Given the description of an element on the screen output the (x, y) to click on. 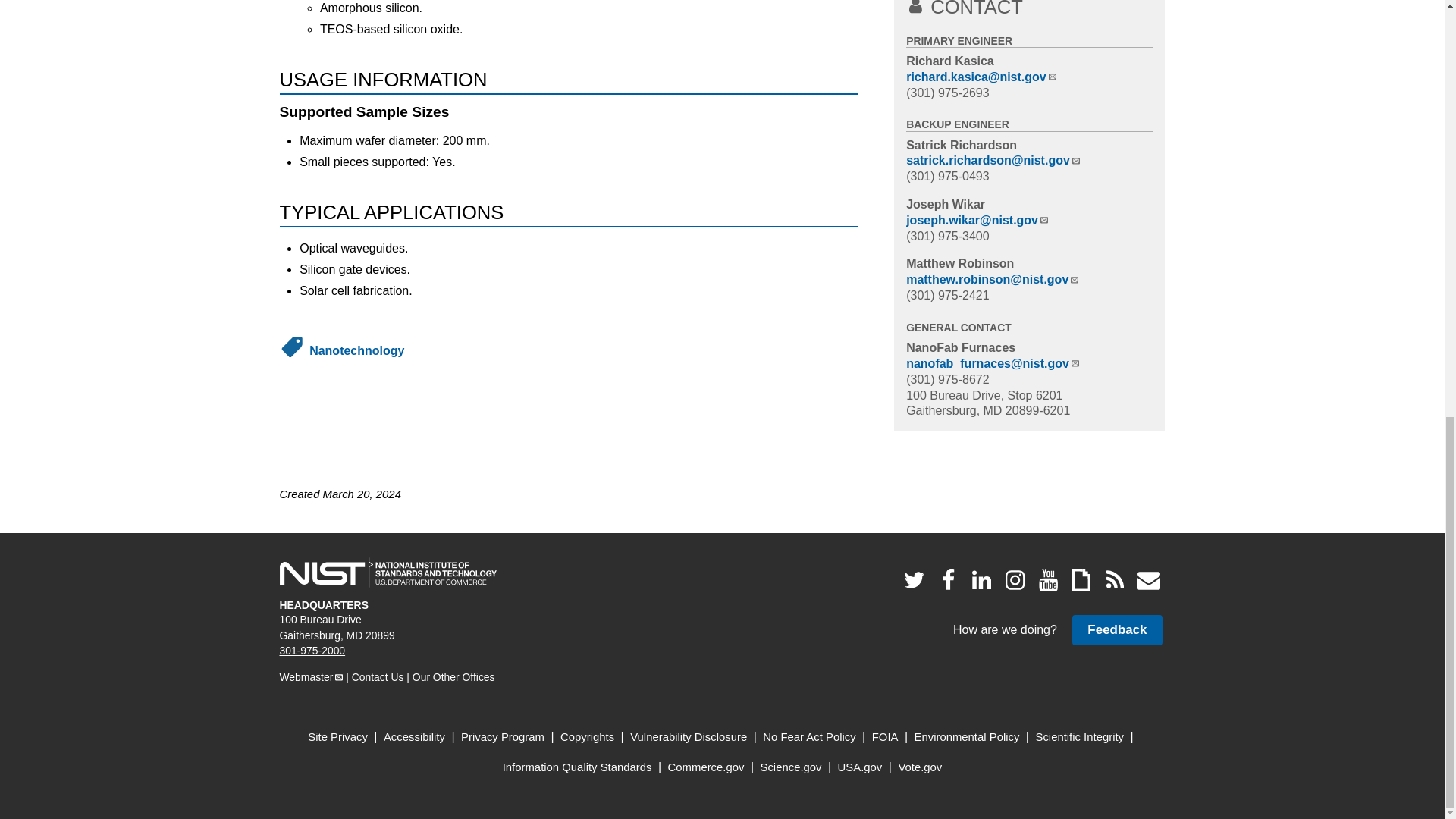
View staff profile page (959, 263)
View staff profile page (945, 204)
Nanotechnology (356, 350)
Richard Kasica (949, 60)
Webmaster (310, 676)
View staff profile page (960, 144)
View staff profile page (949, 60)
Matthew Robinson (959, 263)
Joseph Wikar (945, 204)
301-975-2000 (312, 650)
